Given the description of an element on the screen output the (x, y) to click on. 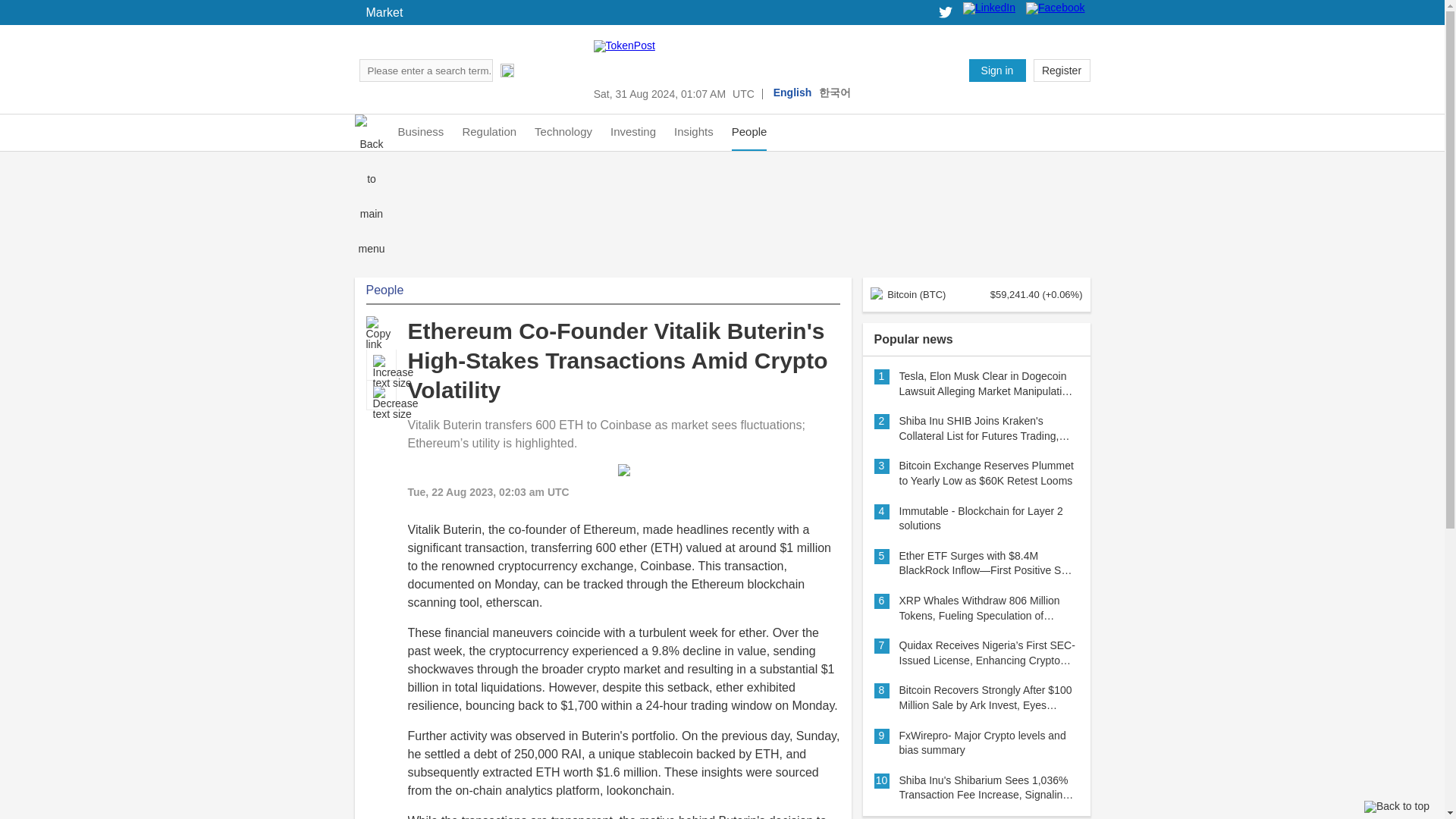
Register (1060, 69)
Business (420, 131)
Investing (633, 131)
People (749, 132)
English (792, 92)
Business (420, 131)
TokenPost (1026, 69)
